Given the description of an element on the screen output the (x, y) to click on. 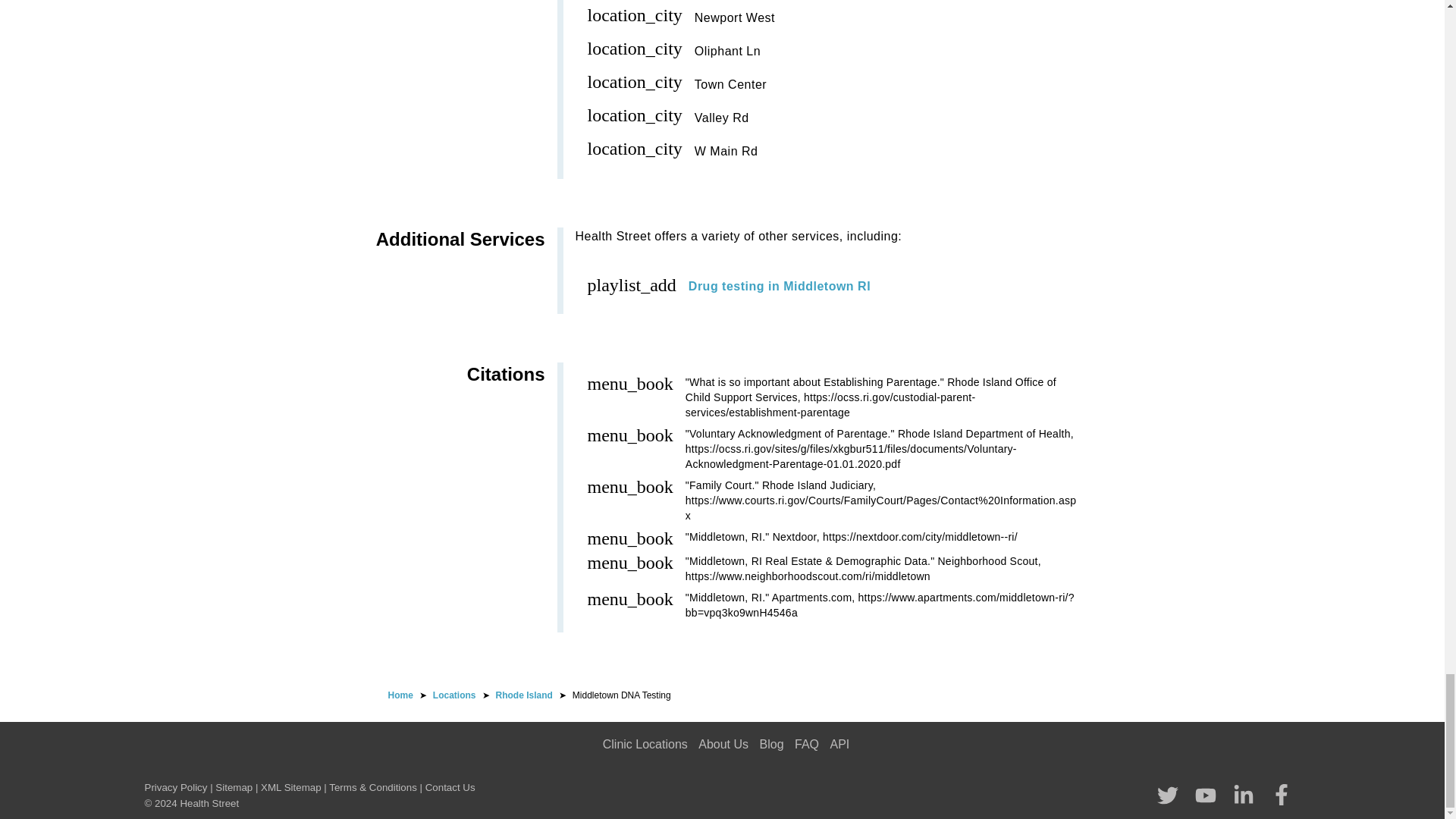
Health Street (400, 695)
Middletown RI Drug Testing (779, 286)
